Given the description of an element on the screen output the (x, y) to click on. 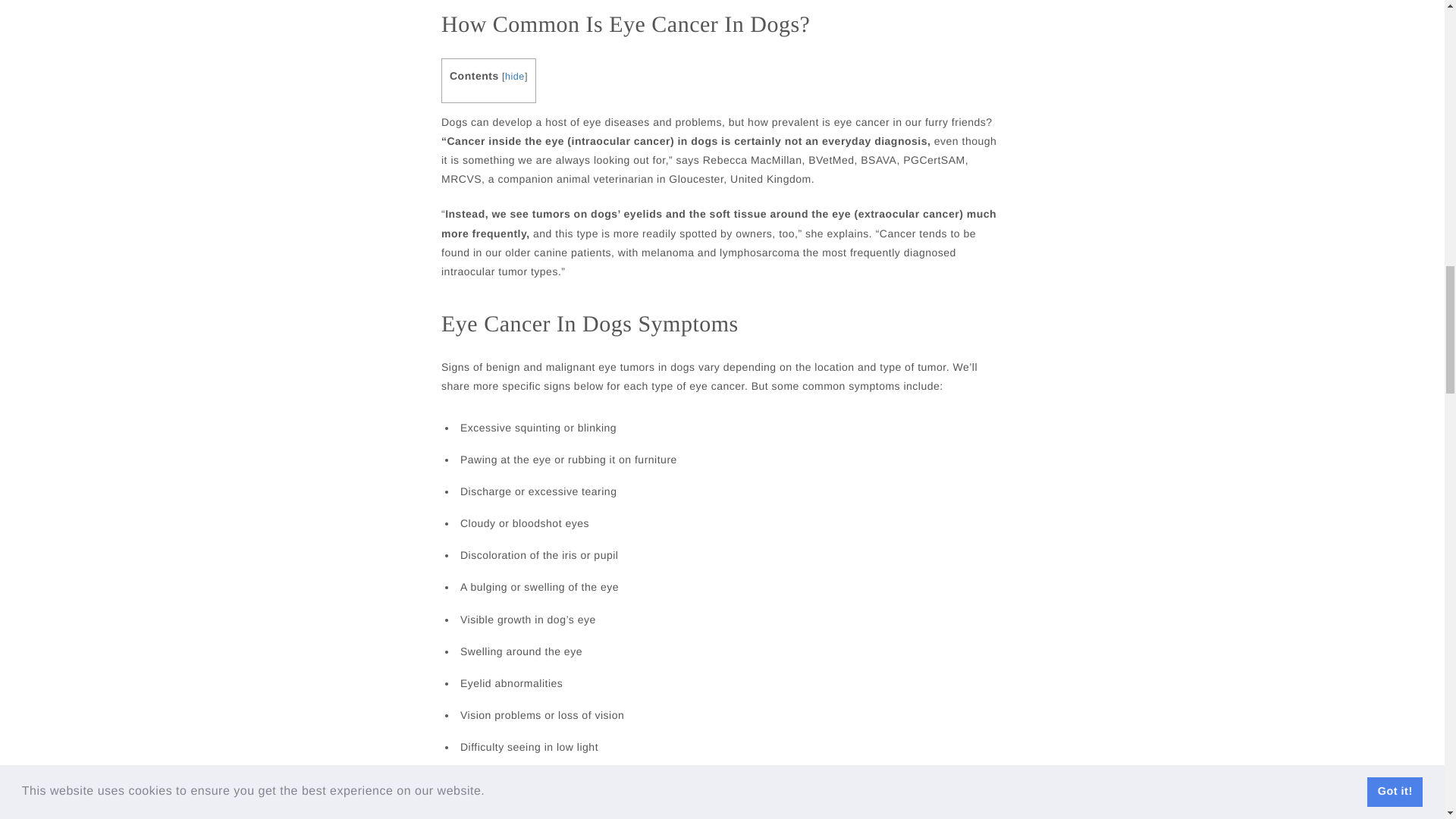
hide (514, 76)
